Given the description of an element on the screen output the (x, y) to click on. 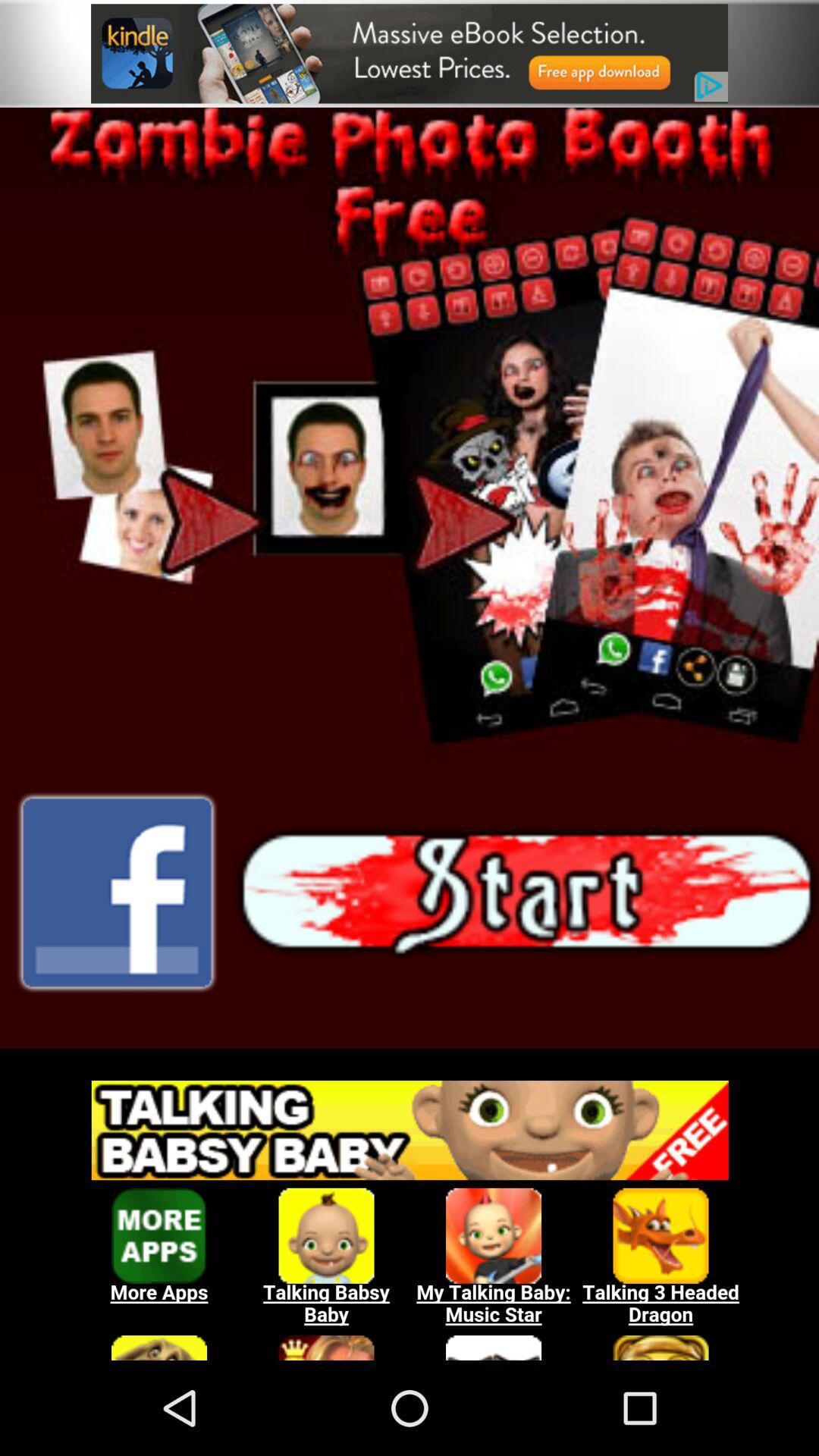
advertisement link (409, 53)
